Given the description of an element on the screen output the (x, y) to click on. 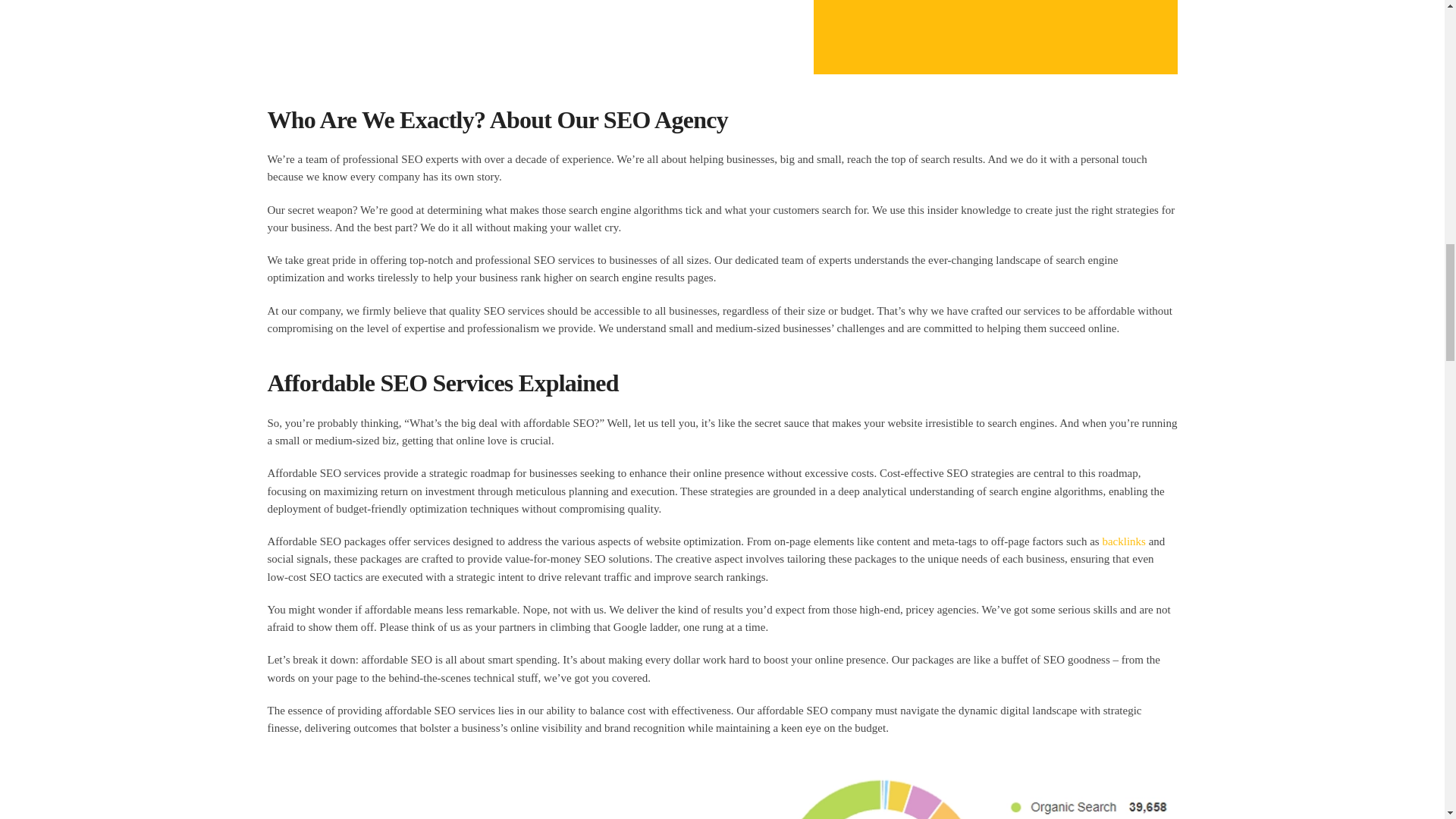
backlinks (1123, 541)
